Given the description of an element on the screen output the (x, y) to click on. 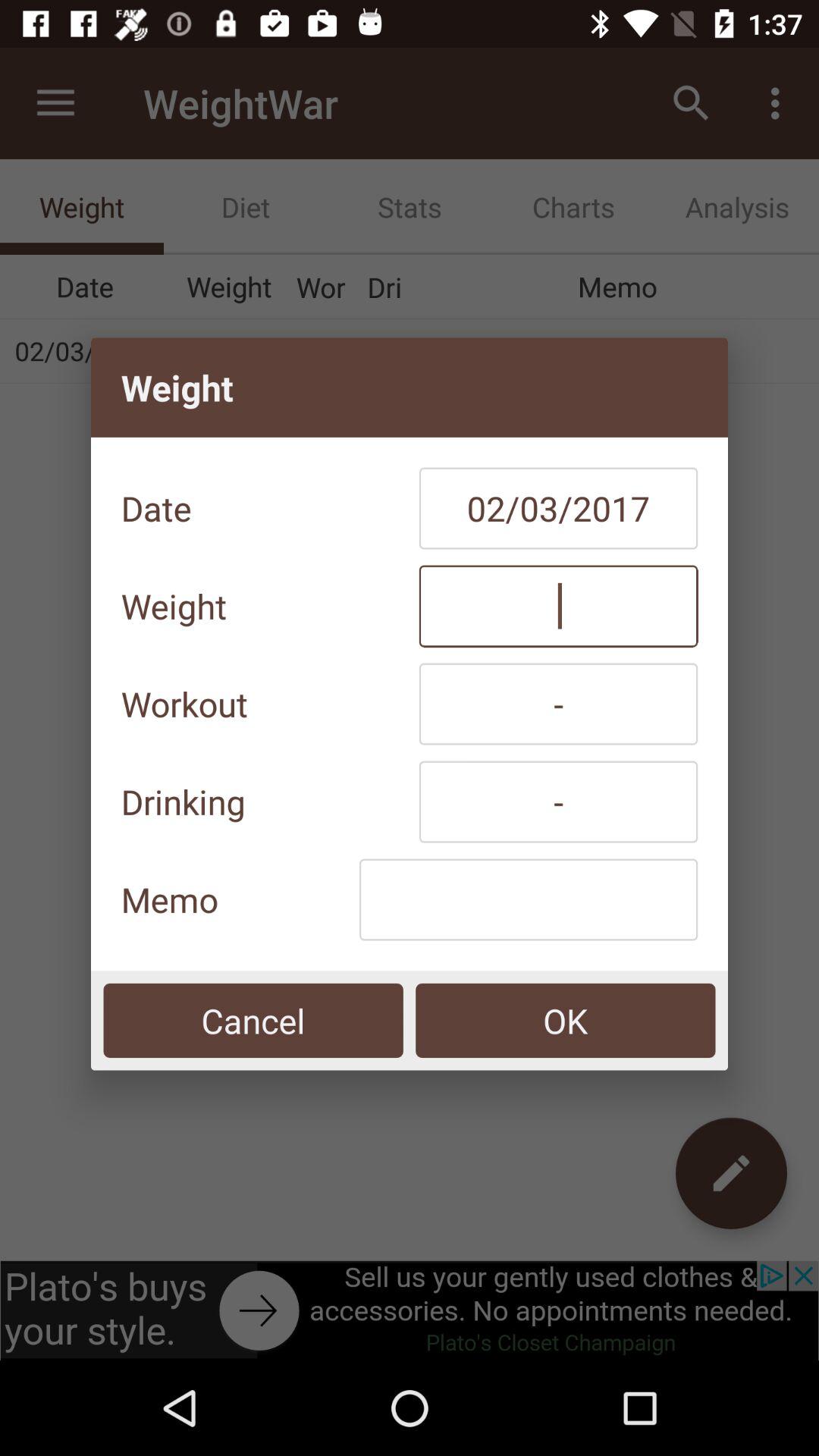
press icon next to weight (558, 606)
